Given the description of an element on the screen output the (x, y) to click on. 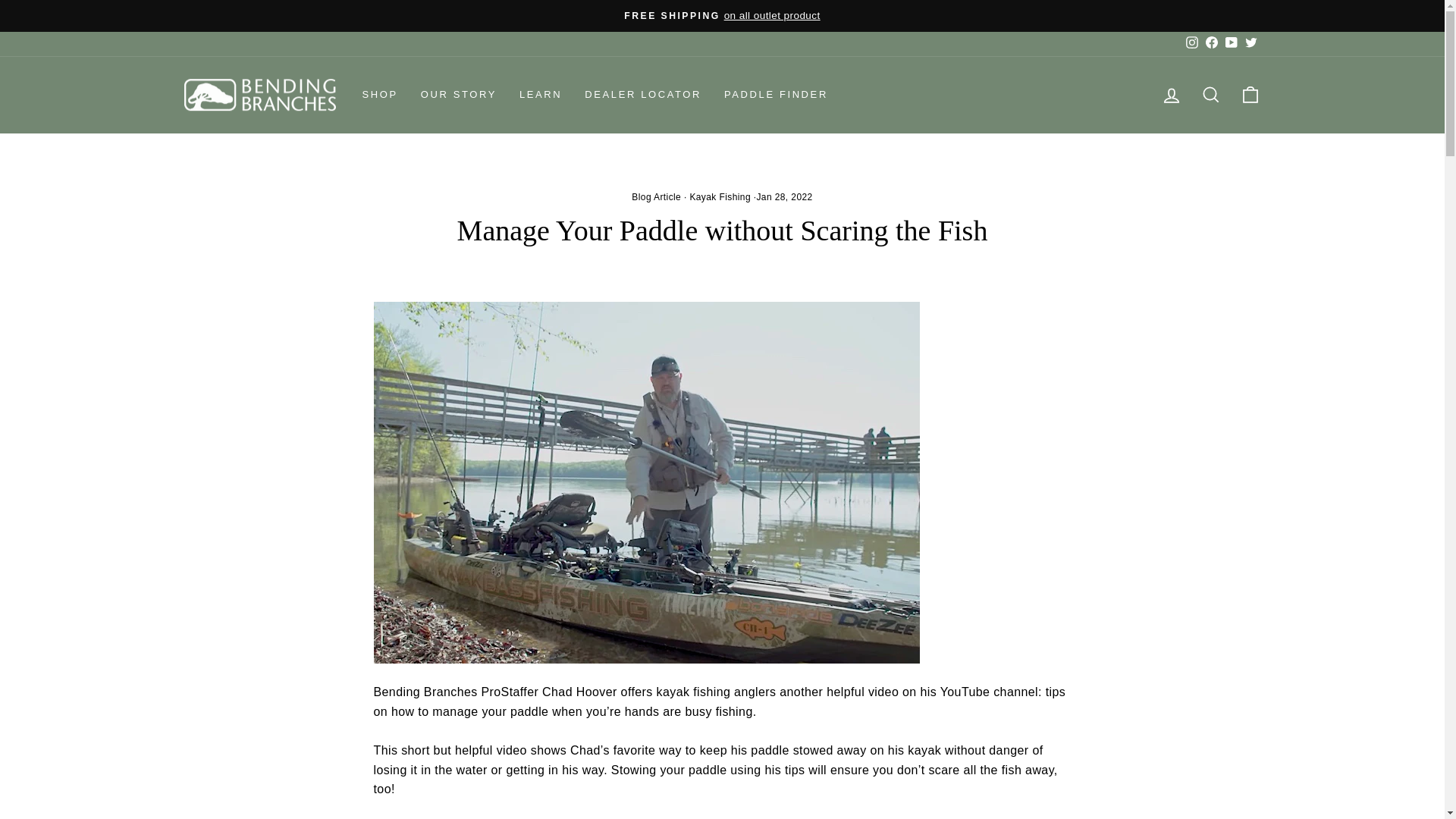
FREE SHIPPINGon all outlet product (722, 15)
ACCOUNT (1170, 95)
twitter (1250, 42)
instagram (1192, 42)
ICON-BAG-MINIMAL (1249, 94)
ICON-SEARCH (1210, 94)
